Given the description of an element on the screen output the (x, y) to click on. 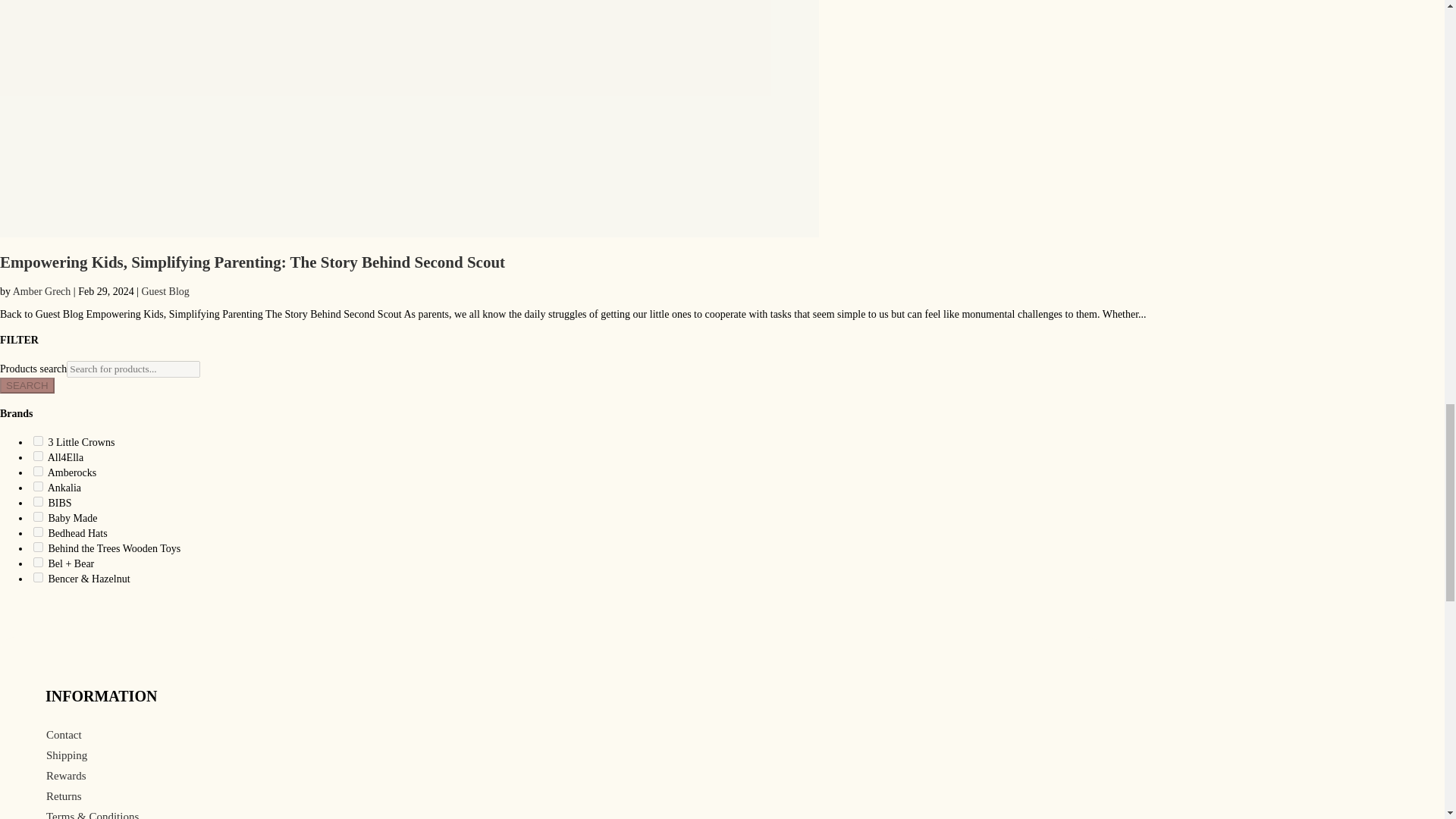
bel-and-bear (38, 562)
ankalia (38, 486)
3-little-crowns (38, 440)
behind-the-trees-wooden-toys (38, 547)
bencer-and-hazelnut (38, 577)
amberocks (38, 470)
baby-made (38, 516)
bedhead-hats (38, 532)
Posts by Amber Grech (42, 291)
all4ella (38, 456)
bibs (38, 501)
